Given the description of an element on the screen output the (x, y) to click on. 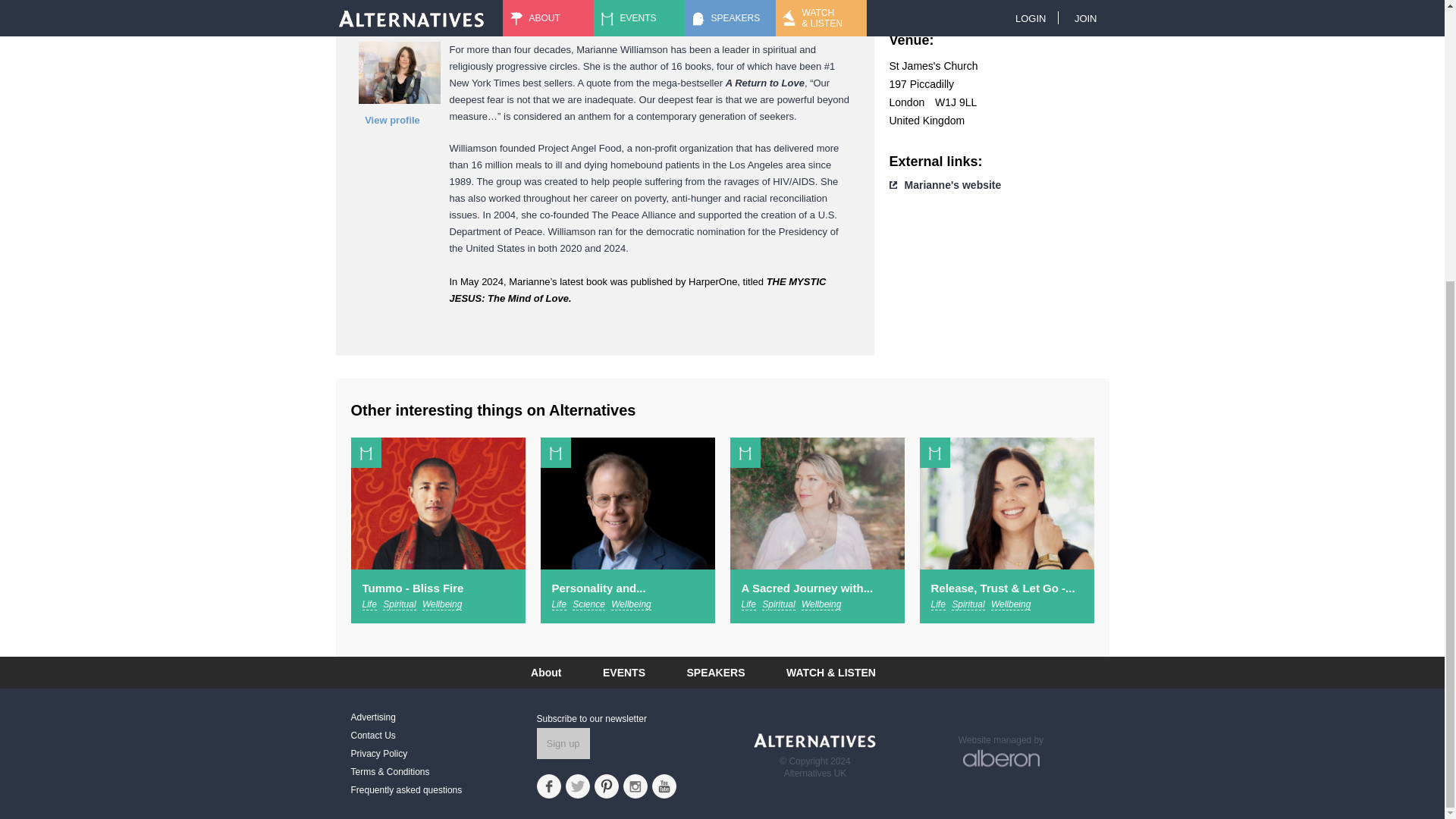
Contact Us (442, 734)
Visit our Facebook page! (548, 785)
Follow us on Instagram (635, 785)
Tummo - Bliss Fire (413, 587)
Sign up (563, 742)
View profile (392, 119)
Frequently asked questions (442, 789)
Advertising (442, 716)
Pin us at Pinterest (606, 785)
Privacy Policy (442, 752)
Marianne's website (952, 184)
Follow us on Twitter (577, 785)
SPEAKERS (714, 672)
About (545, 672)
Personality and... (598, 587)
